Given the description of an element on the screen output the (x, y) to click on. 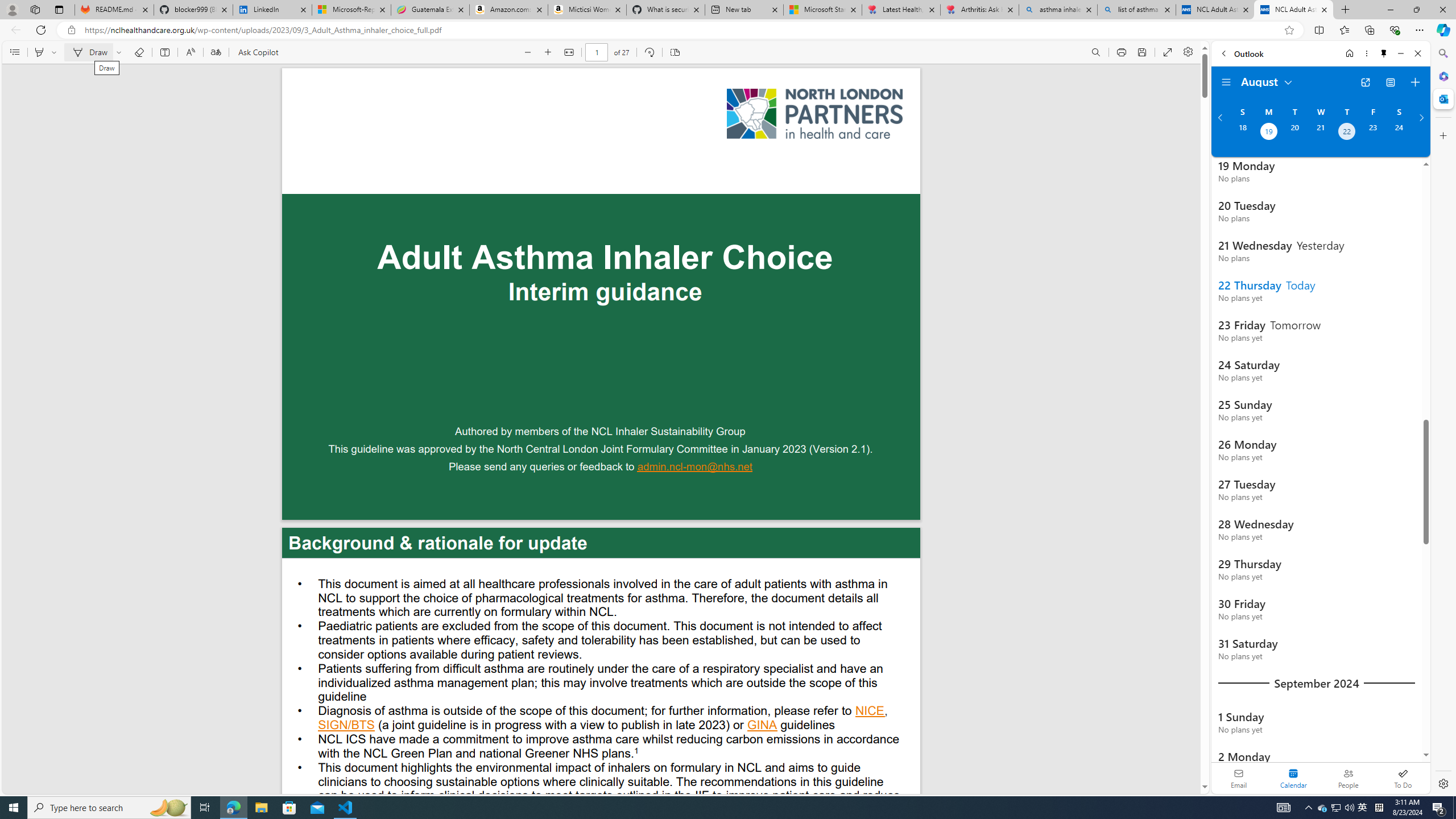
Draw (88, 52)
Enter PDF full screen (1167, 52)
Folder navigation (1225, 82)
Save (Ctrl+S) (1142, 52)
Tuesday, August 20, 2024.  (1294, 132)
